Given the description of an element on the screen output the (x, y) to click on. 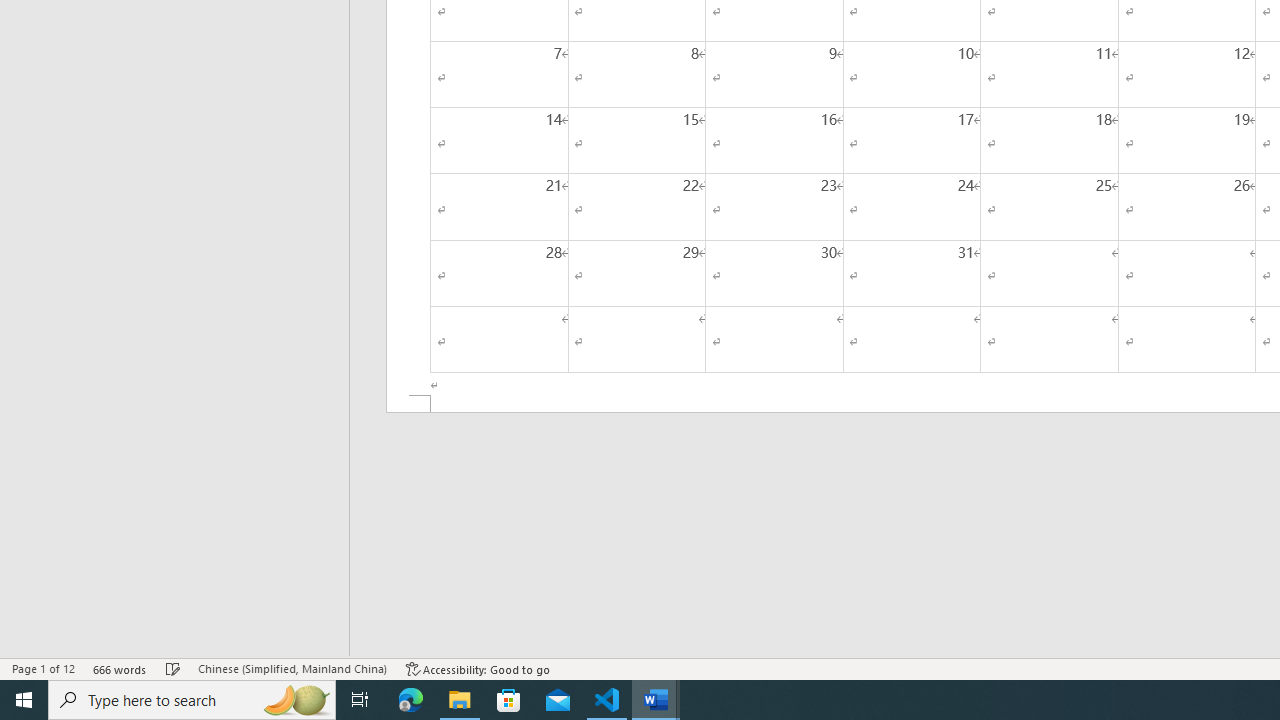
Word Count 666 words (119, 668)
Accessibility Checker Accessibility: Good to go (478, 668)
Language Chinese (Simplified, Mainland China) (292, 668)
Spelling and Grammar Check Checking (173, 668)
Page Number Page 1 of 12 (43, 668)
